Given the description of an element on the screen output the (x, y) to click on. 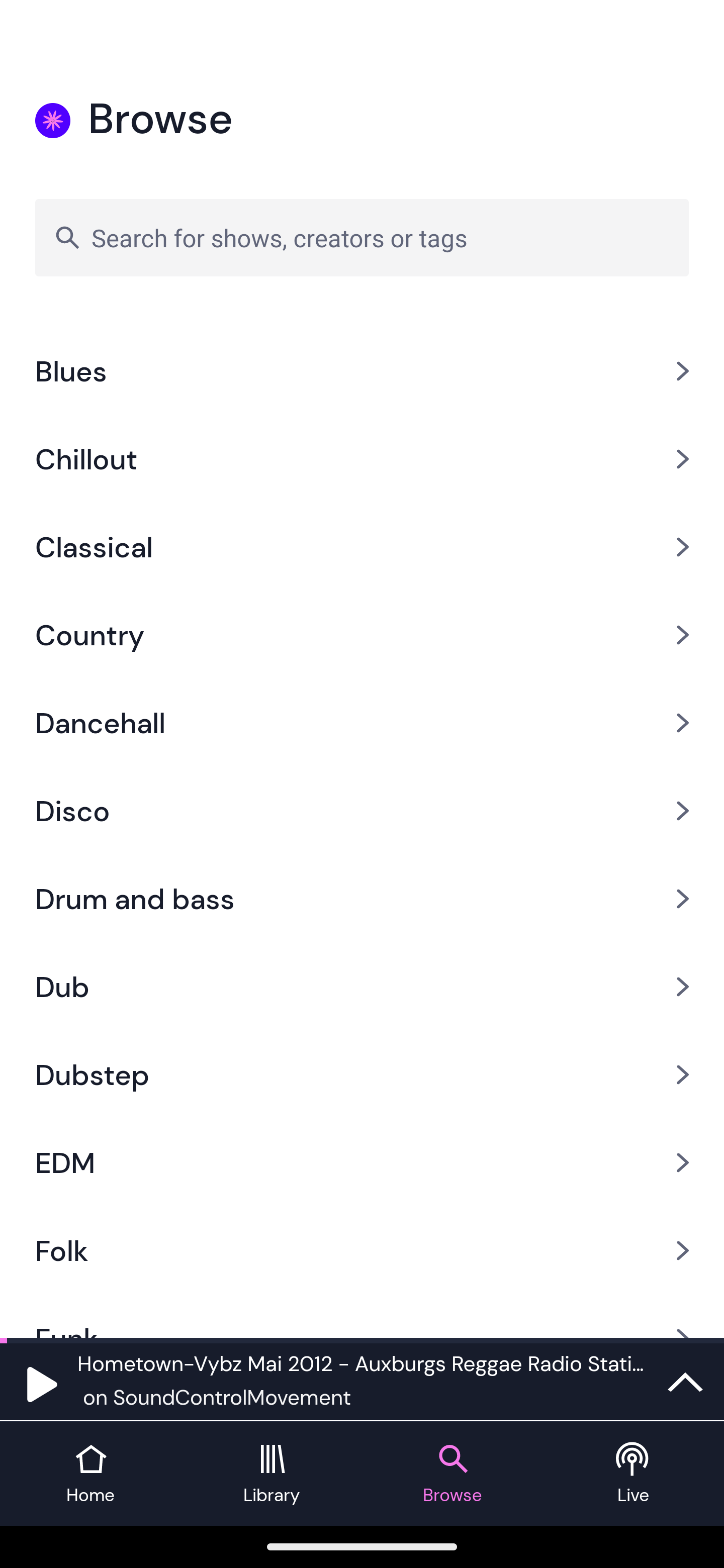
Search for shows, creators or tags (361, 237)
Blues (361, 371)
Chillout (361, 459)
Classical (361, 547)
Country (361, 634)
Dancehall (361, 722)
Disco (361, 810)
Drum and bass (361, 898)
Dub (361, 986)
Dubstep (361, 1073)
EDM (361, 1162)
Folk (361, 1251)
Home tab Home (90, 1473)
Library tab Library (271, 1473)
Browse tab Browse (452, 1473)
Live tab Live (633, 1473)
